Given the description of an element on the screen output the (x, y) to click on. 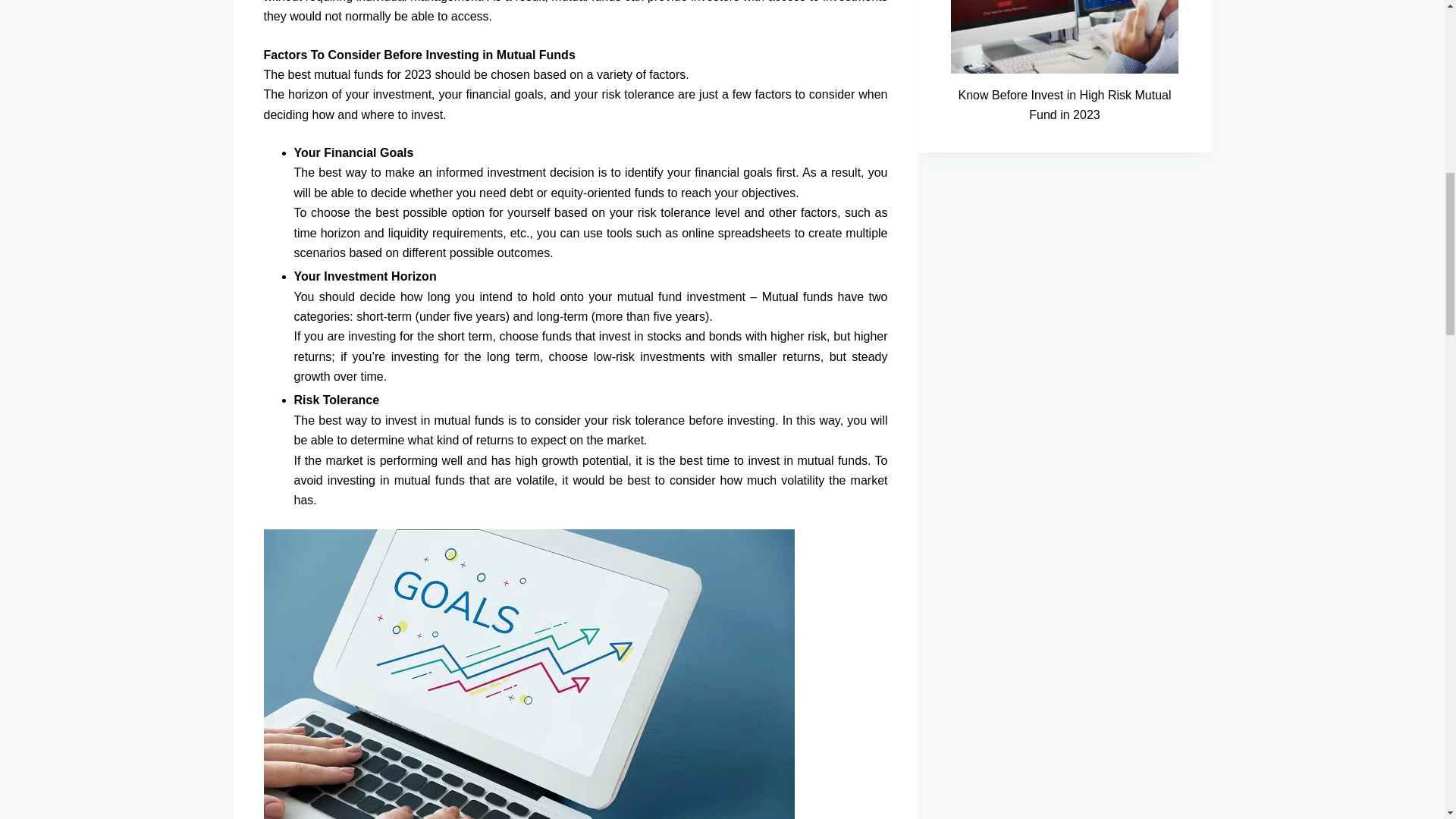
Know Before Invest in High Risk Mutual Fund in 2023 (1064, 105)
